Given the description of an element on the screen output the (x, y) to click on. 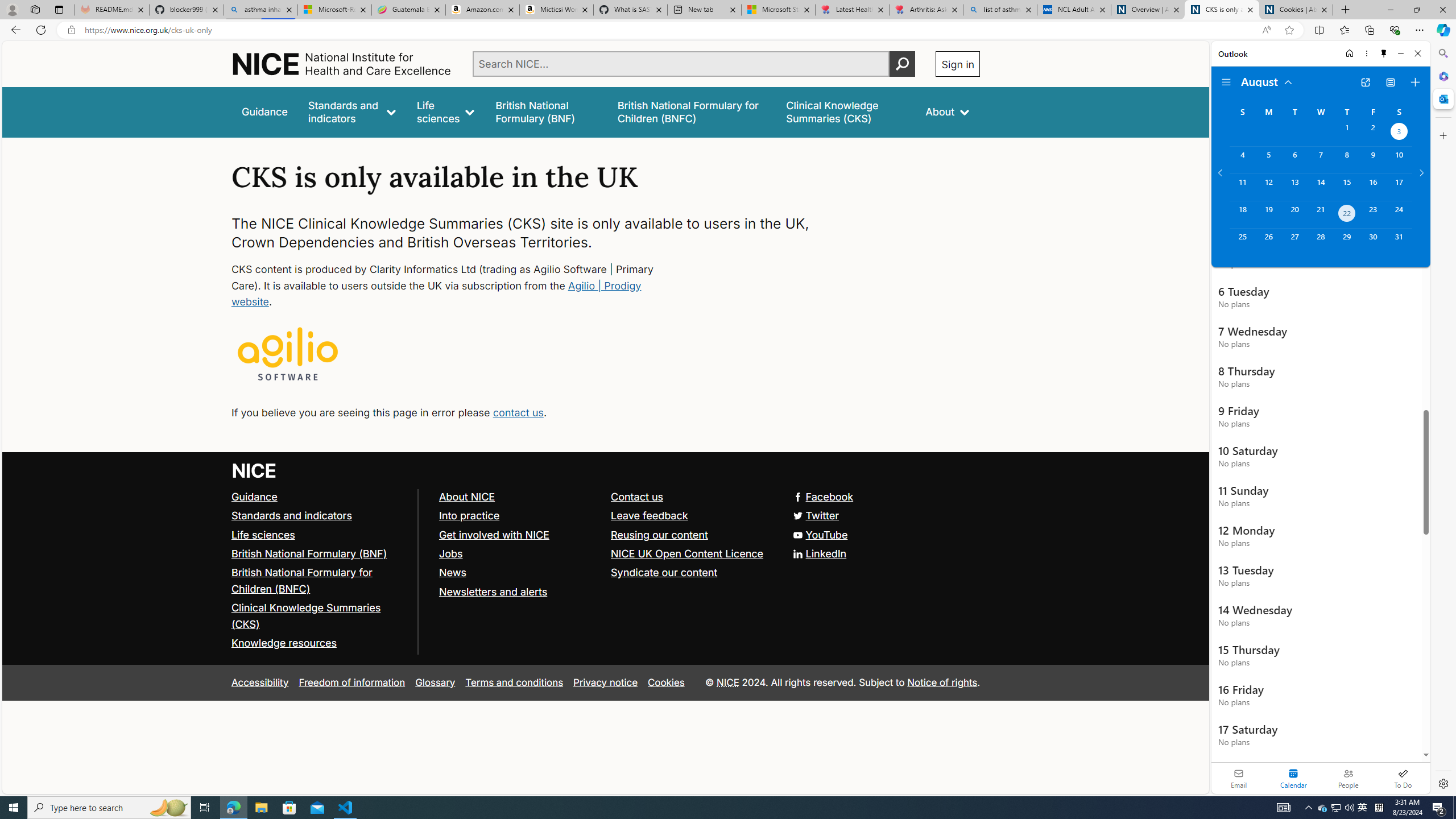
Tuesday, August 27, 2024.  (1294, 241)
Saturday, August 24, 2024.  (1399, 214)
CKS is only available in the UK | NICE (1221, 9)
false (845, 111)
Guidance (319, 496)
Folder navigation (1225, 82)
Syndicate our content (664, 571)
Into practice (468, 515)
Create event (1414, 82)
Wednesday, August 28, 2024.  (1320, 241)
